Given the description of an element on the screen output the (x, y) to click on. 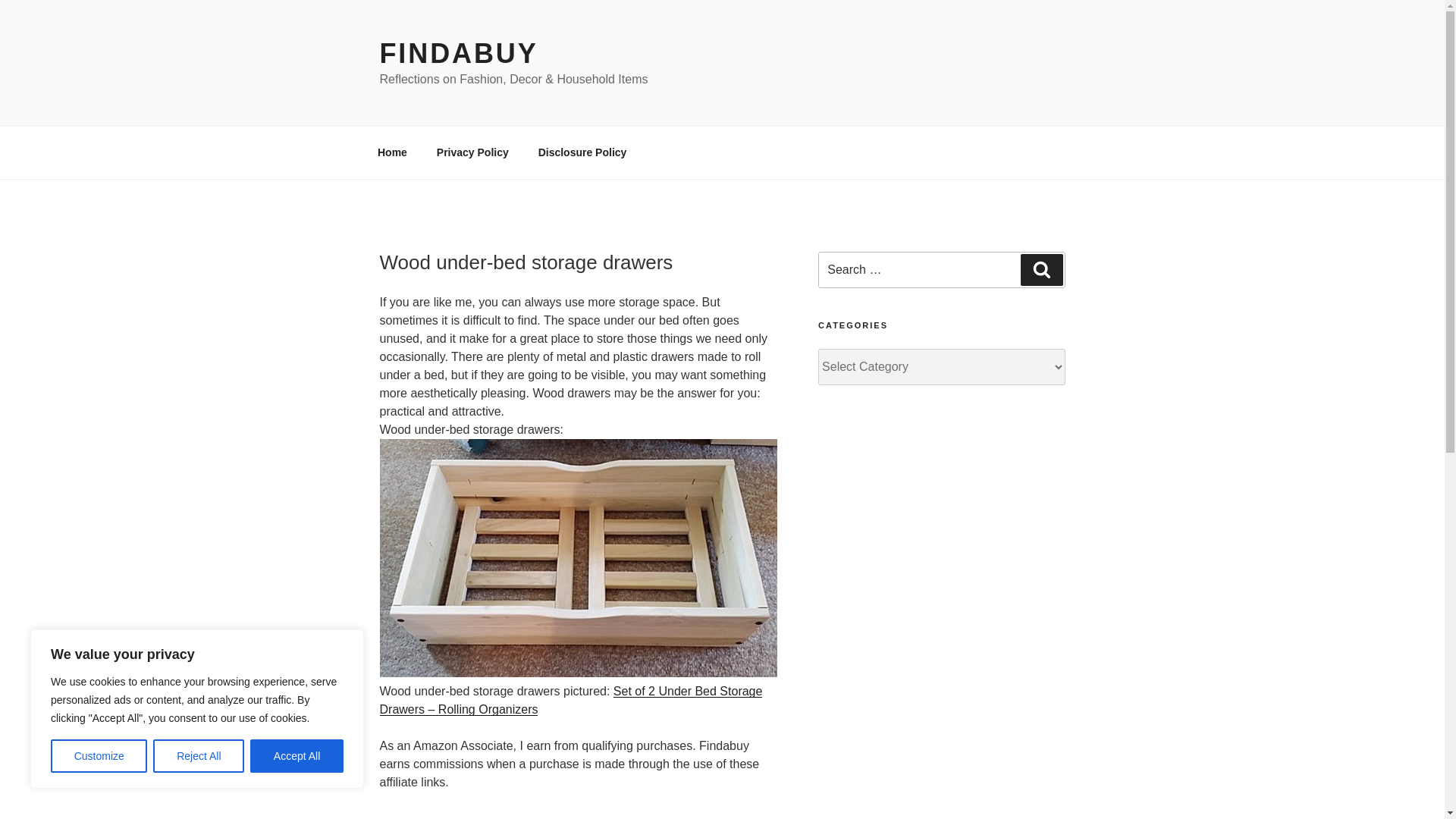
Reject All (198, 756)
Search (1041, 269)
Disclosure Policy (582, 151)
Privacy Policy (472, 151)
Accept All (296, 756)
Customize (98, 756)
FINDABUY (457, 52)
Home (392, 151)
